Given the description of an element on the screen output the (x, y) to click on. 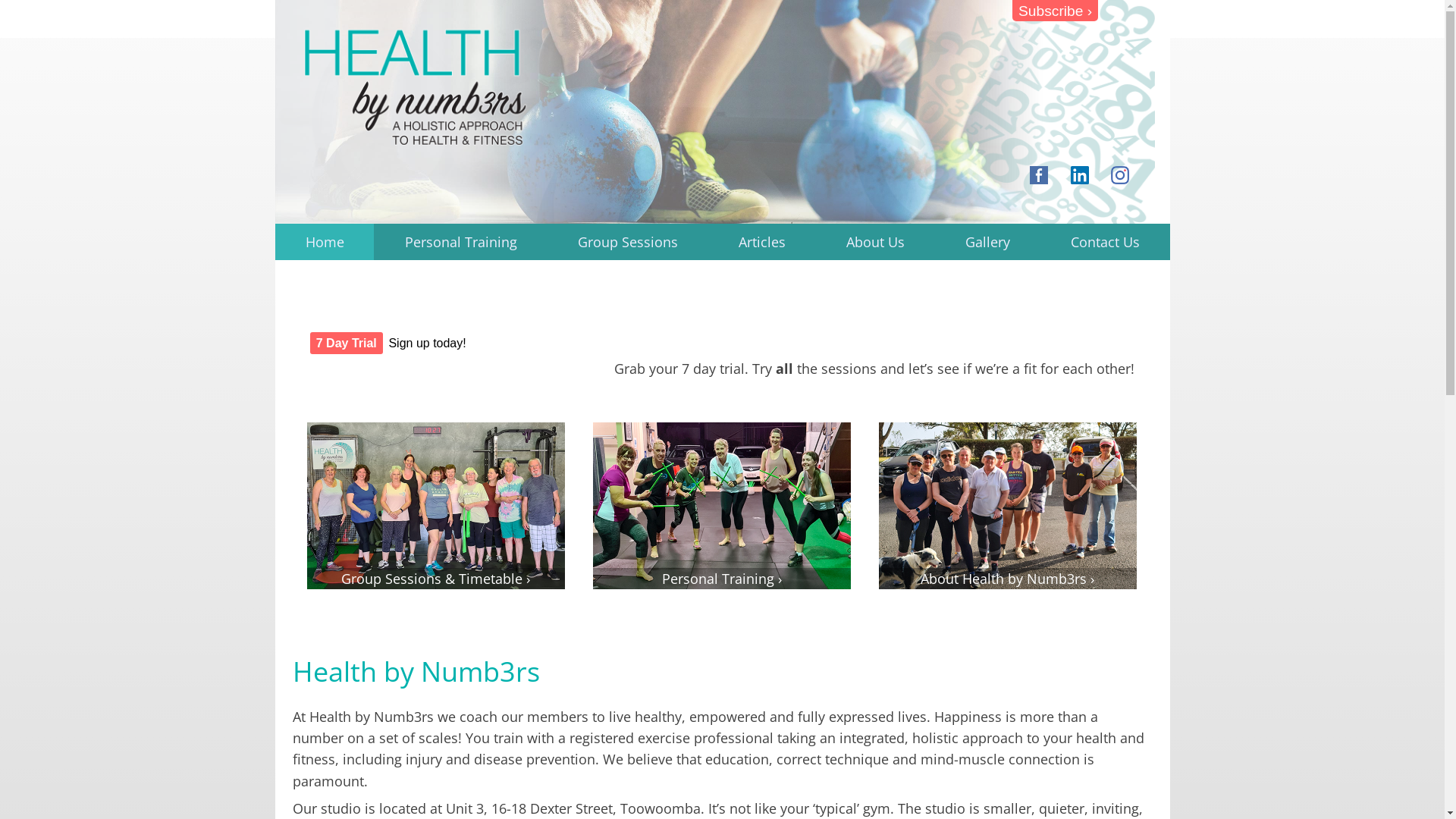
Read about Health by Numb3rs Personal Fitness Training Element type: hover (721, 505)
Articles Element type: text (761, 241)
Personal Training Element type: text (460, 241)
Contact Us Element type: text (1104, 241)
Read about Health by Numb3rs Training & Programs Element type: hover (435, 505)
Read about Health by Numb3rs Element type: hover (1007, 505)
Open the Health By Numb3rs Instagram feed Element type: hover (1119, 175)
Open the Health By Numb3rs Facebook page Element type: hover (1038, 175)
7 Day Trial Element type: text (346, 343)
Gallery Element type: text (987, 241)
Group Sessions Element type: text (627, 241)
About Us Element type: text (874, 241)
